Given the description of an element on the screen output the (x, y) to click on. 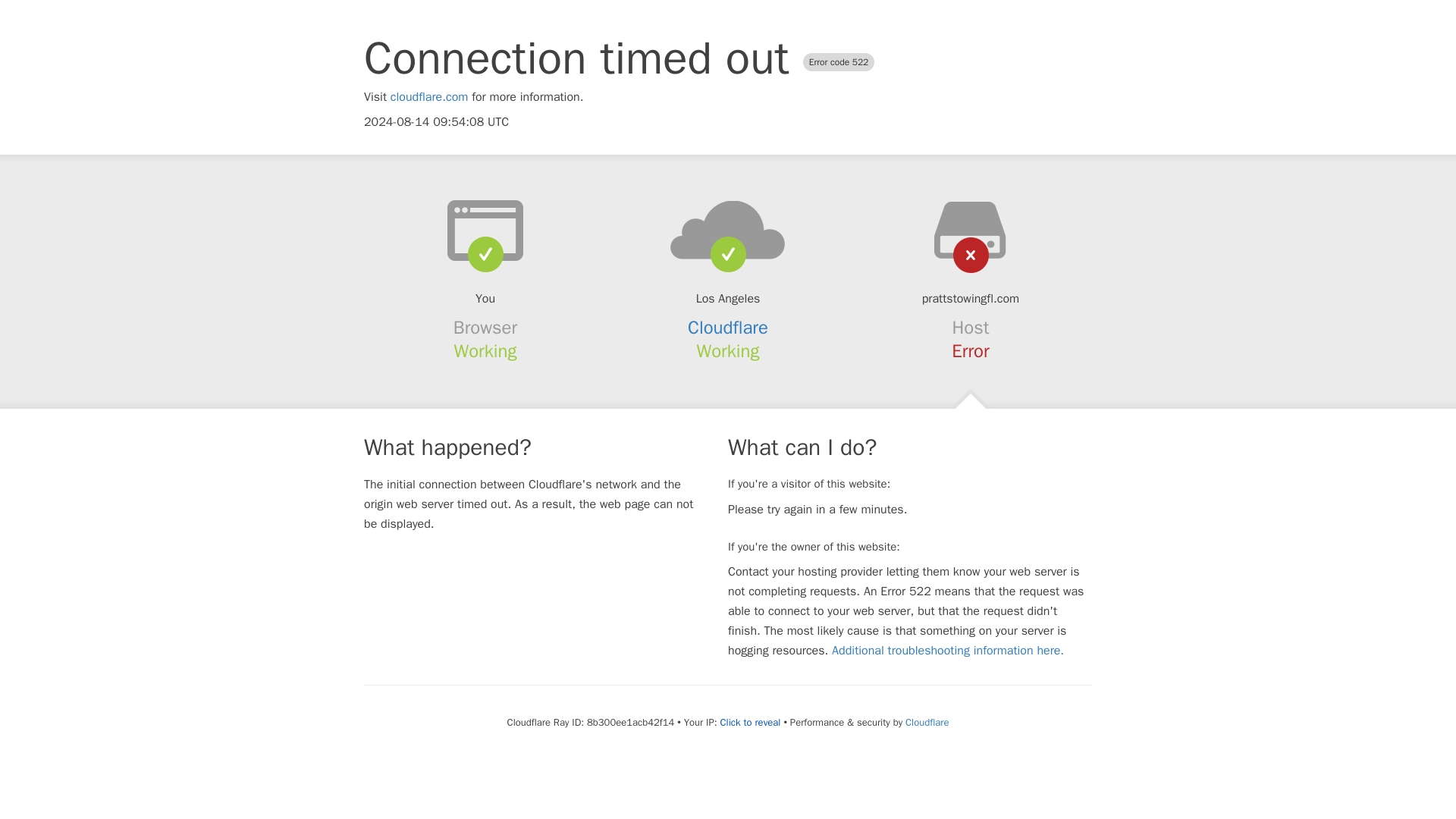
Cloudflare (727, 327)
Click to reveal (750, 722)
Cloudflare (927, 721)
Additional troubleshooting information here. (947, 650)
cloudflare.com (429, 96)
